Given the description of an element on the screen output the (x, y) to click on. 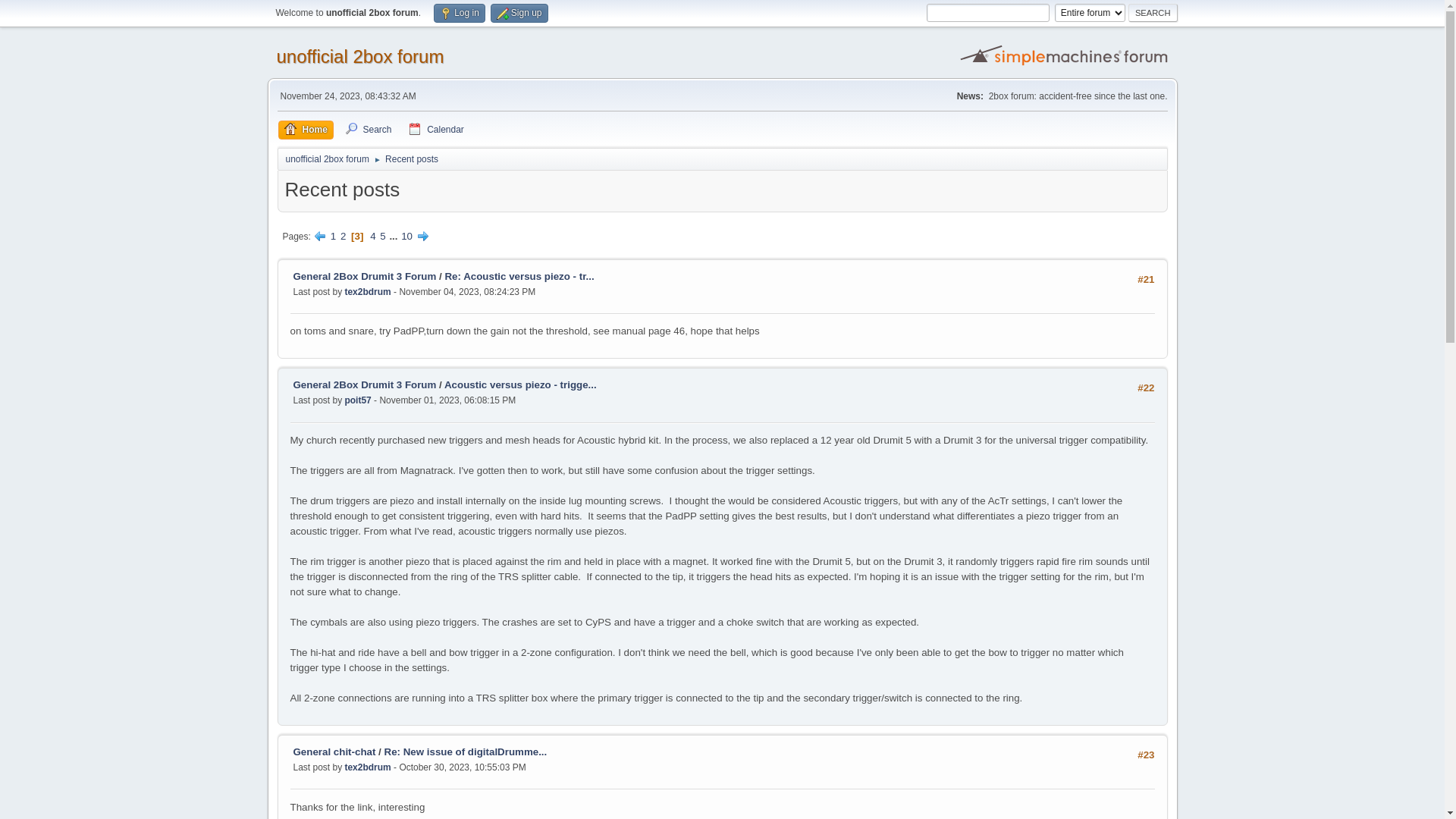
Acoustic versus piezo - trigge... Element type: text (520, 384)
unofficial 2box forum Element type: text (359, 56)
10 Element type: text (406, 235)
1 Element type: text (332, 235)
4 Element type: text (372, 235)
General 2Box Drumit 3 Forum Element type: text (364, 384)
... Element type: text (394, 235)
Re: Acoustic versus piezo - tr... Element type: text (518, 276)
2 Element type: text (342, 235)
Log in Element type: text (459, 12)
Recent posts Element type: text (411, 156)
tex2bdrum Element type: text (367, 291)
General 2Box Drumit 3 Forum Element type: text (364, 276)
Home Element type: text (304, 129)
Search Element type: text (367, 129)
General chit-chat Element type: text (333, 751)
tex2bdrum Element type: text (367, 767)
poit57 Element type: text (357, 400)
Sign up Element type: text (518, 12)
Calendar Element type: text (436, 129)
Simple Machines Forum Element type: hover (1065, 54)
Re: New issue of digitalDrumme... Element type: text (464, 751)
5 Element type: text (382, 235)
unofficial 2box forum Element type: text (326, 156)
Search Element type: text (1152, 12)
